Given the description of an element on the screen output the (x, y) to click on. 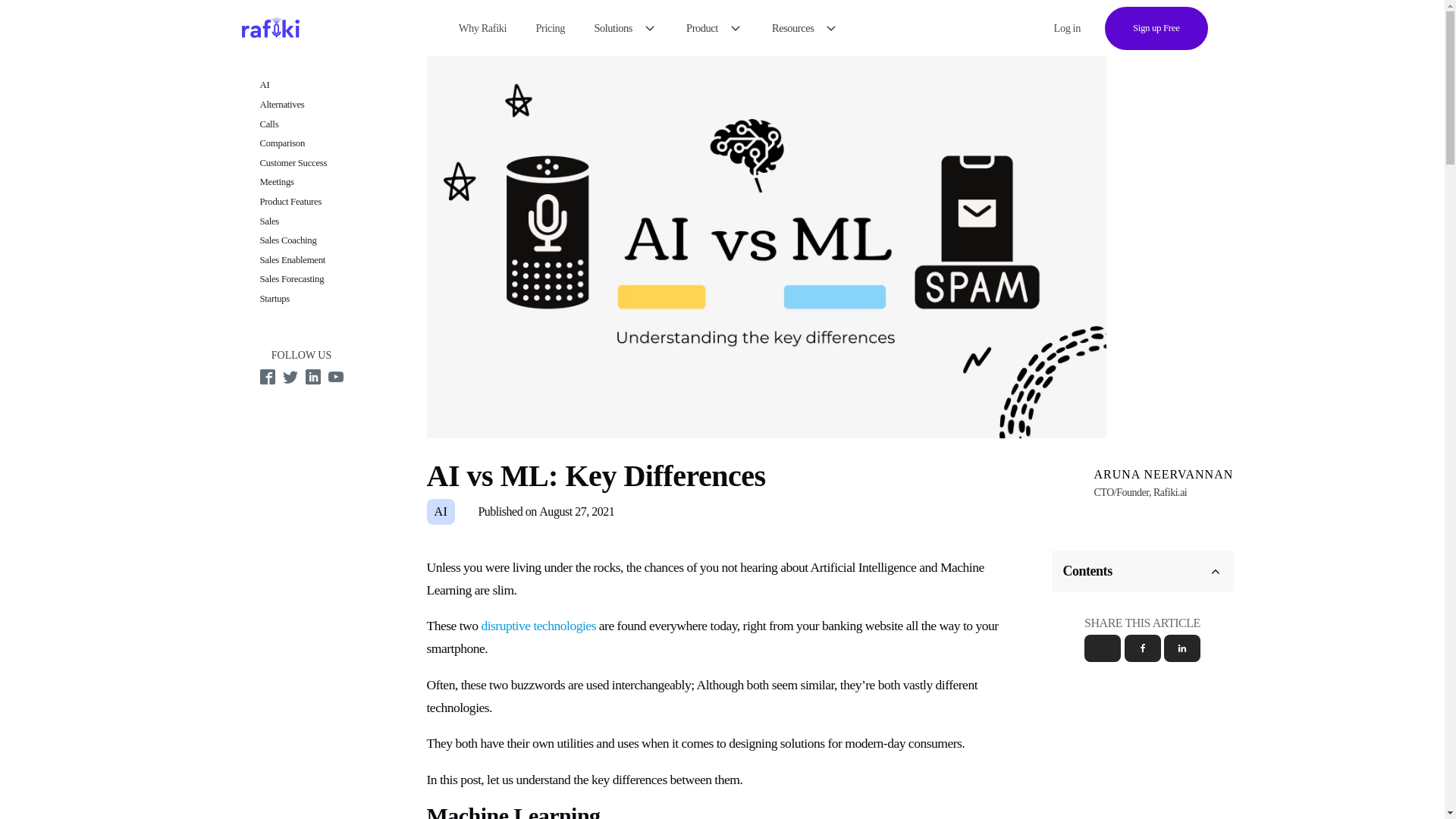
Solutions (625, 27)
Resources (804, 27)
Sign up Free (1156, 27)
Product (713, 27)
Why Rafiki (482, 27)
Log in (1067, 28)
